Given the description of an element on the screen output the (x, y) to click on. 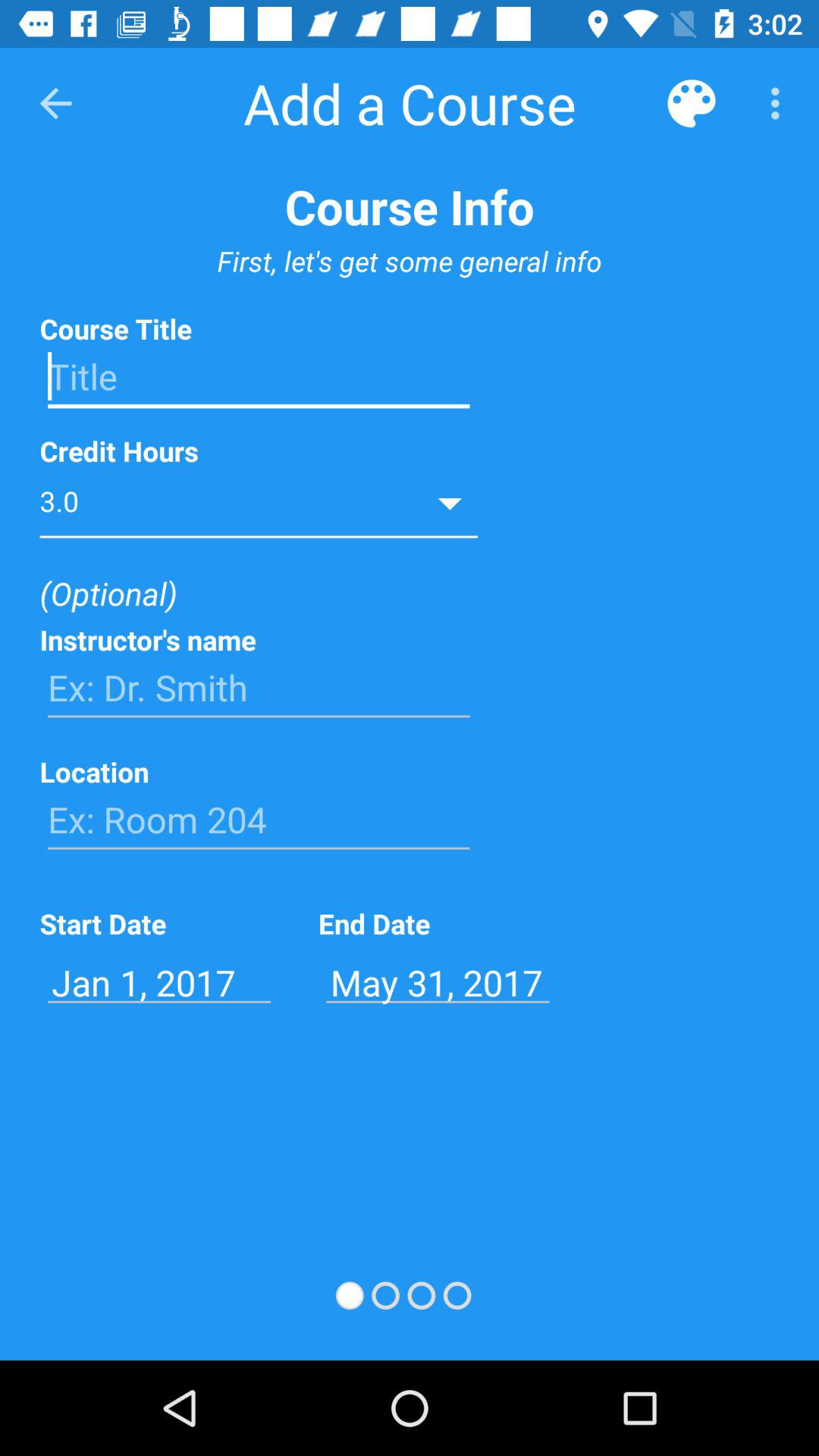
share the article (258, 377)
